Given the description of an element on the screen output the (x, y) to click on. 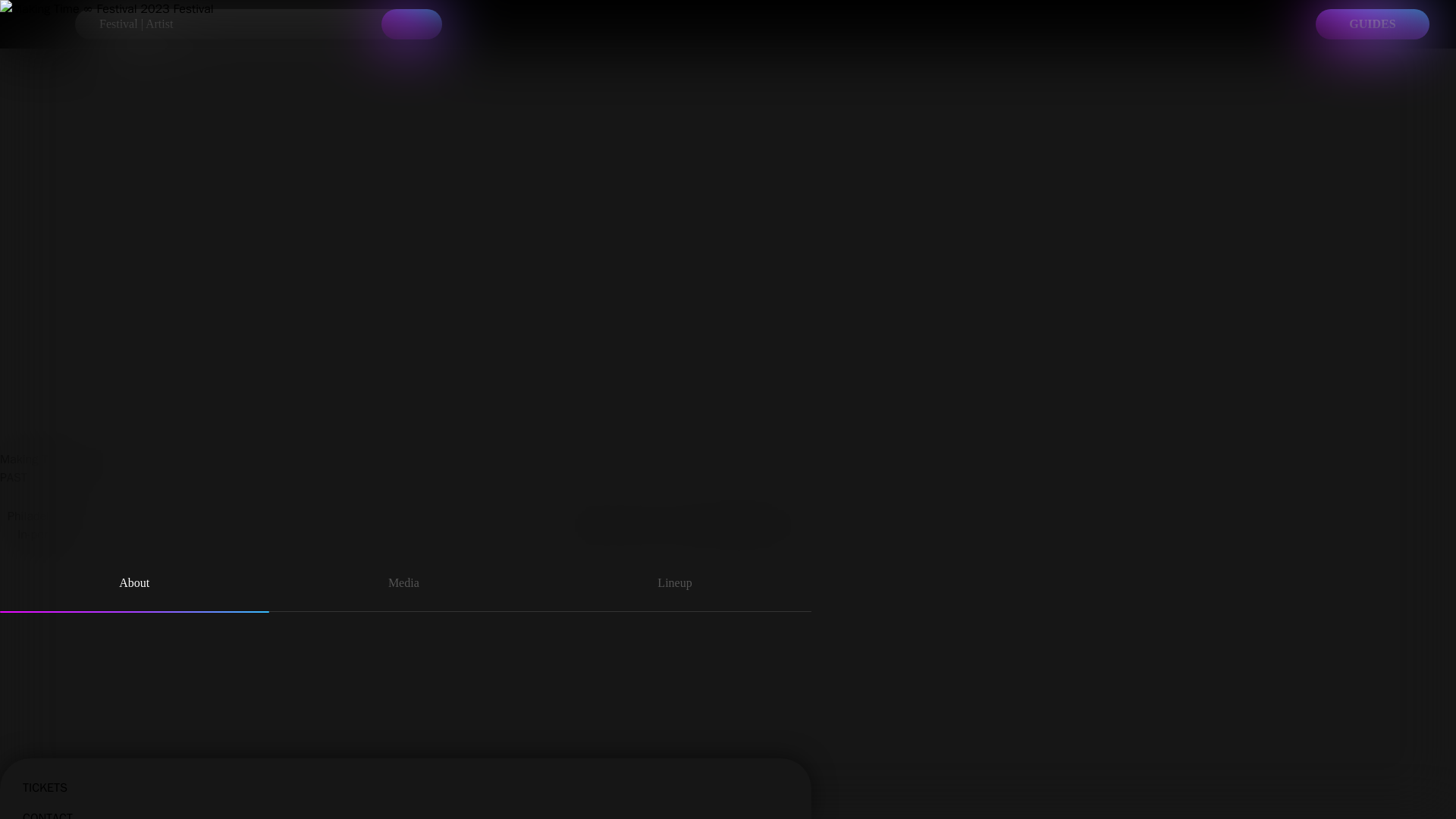
GUIDES (1372, 24)
Lineup (674, 584)
TICKETS (406, 773)
Media (403, 584)
About (134, 584)
